Given the description of an element on the screen output the (x, y) to click on. 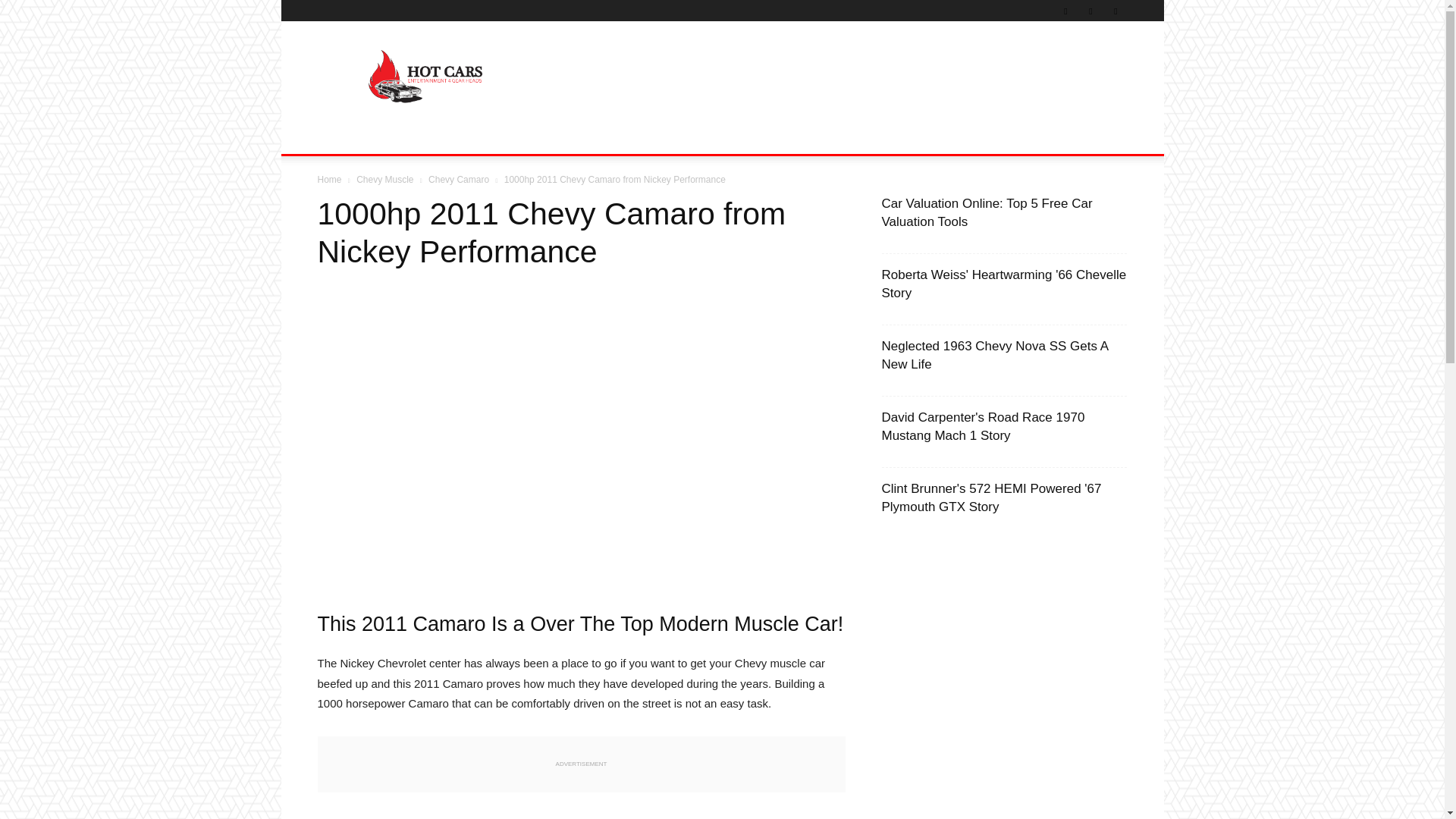
Youtube (1114, 10)
Pinterest (1065, 10)
HOME (343, 135)
Twitter (1090, 10)
CLASSIC CARS (419, 135)
